Given the description of an element on the screen output the (x, y) to click on. 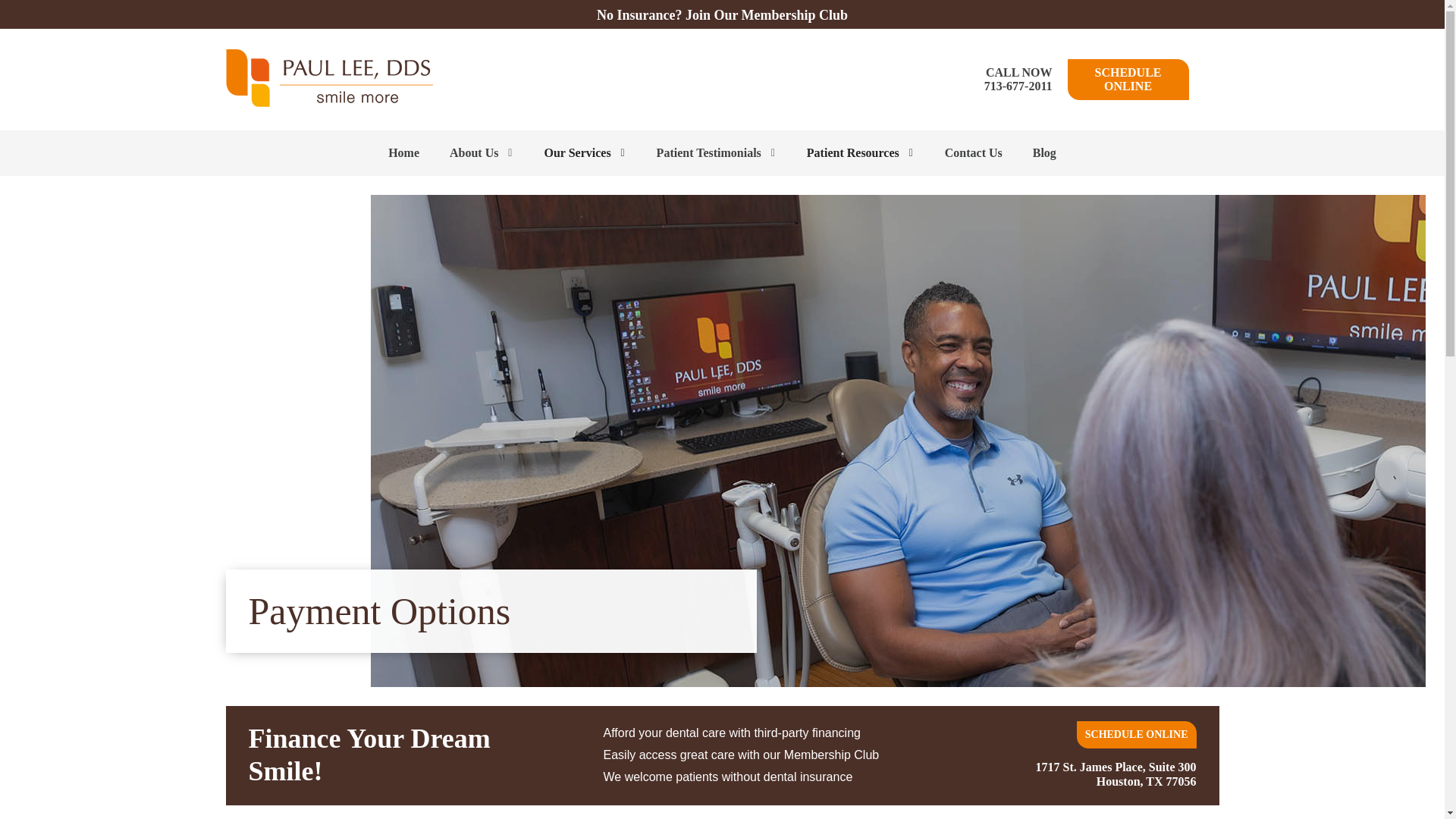
SCHEDULE ONLINE (1128, 78)
About Us (480, 153)
No Insurance? Join Our Membership Club (721, 14)
